Given the description of an element on the screen output the (x, y) to click on. 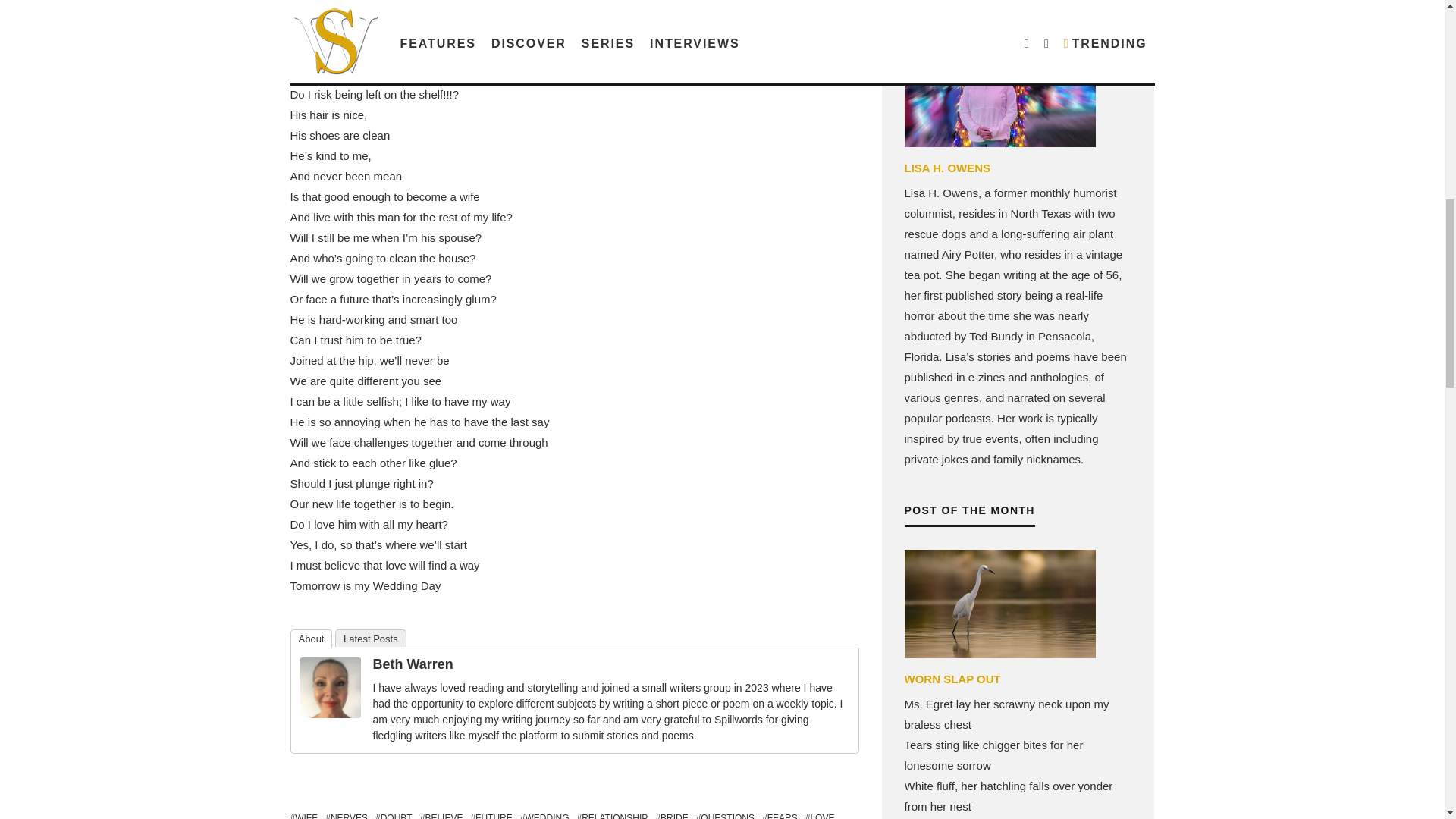
Beth Warren (330, 713)
